Given the description of an element on the screen output the (x, y) to click on. 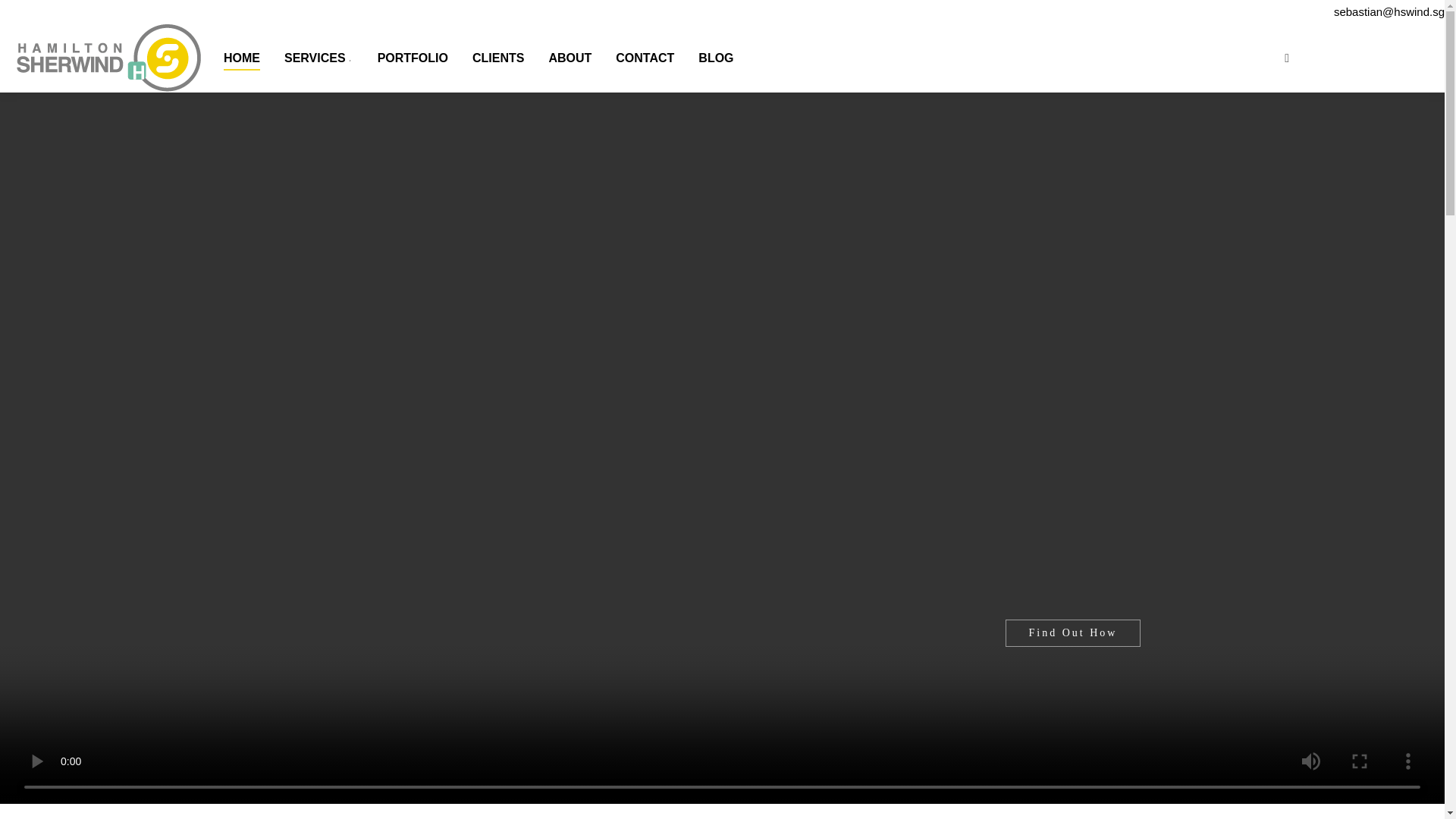
HOME (240, 57)
PORTFOLIO (411, 57)
Go! (24, 15)
CONTACT (643, 57)
English (1393, 55)
ABOUT (567, 57)
SERVICES (317, 57)
CLIENTS (496, 57)
BLOG (714, 57)
